Given the description of an element on the screen output the (x, y) to click on. 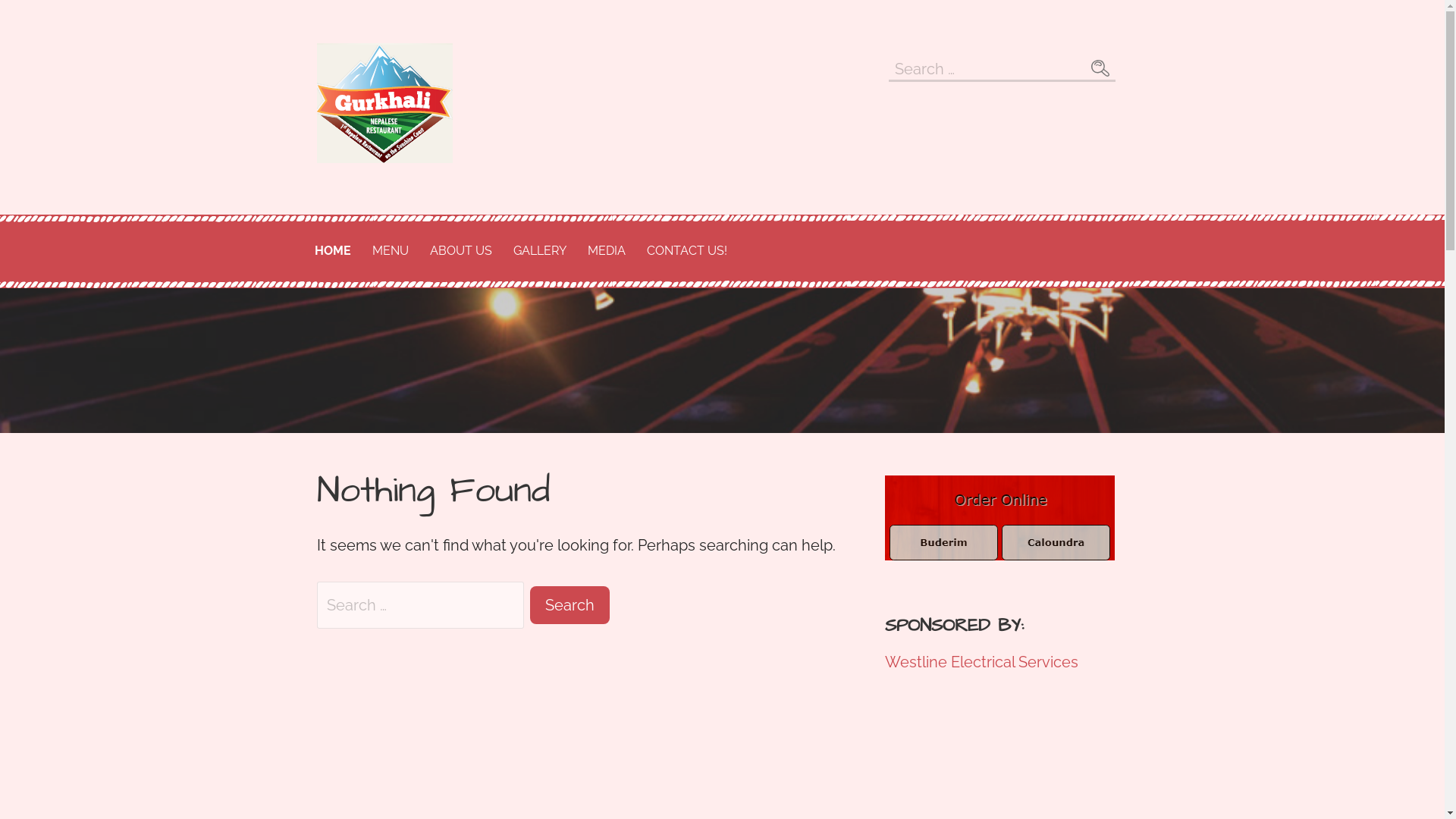
Westline Electrical Services Element type: text (981, 661)
Gurkhali Nepalese Restaurant Element type: text (474, 213)
MEDIA Element type: text (605, 251)
Search Element type: text (569, 605)
CONTACT US! Element type: text (686, 251)
GALLERY Element type: text (538, 251)
Search Element type: text (1100, 67)
ABOUT US Element type: text (460, 251)
MENU Element type: text (389, 251)
HOME Element type: text (331, 251)
